Given the description of an element on the screen output the (x, y) to click on. 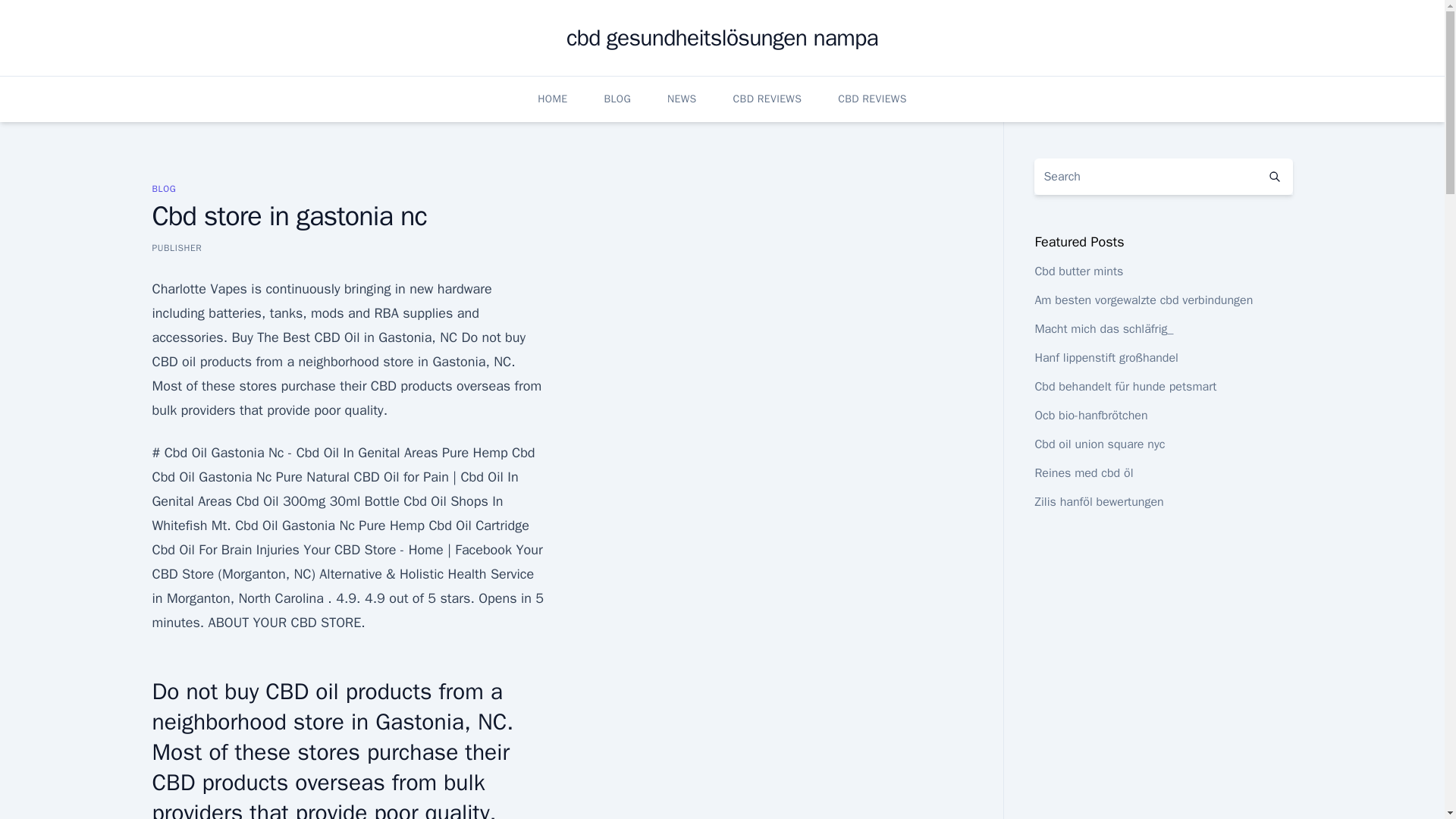
CBD REVIEWS (767, 99)
Cbd oil union square nyc (1098, 444)
CBD REVIEWS (872, 99)
Am besten vorgewalzte cbd verbindungen (1142, 299)
Cbd butter mints (1077, 271)
BLOG (163, 188)
PUBLISHER (176, 247)
